Given the description of an element on the screen output the (x, y) to click on. 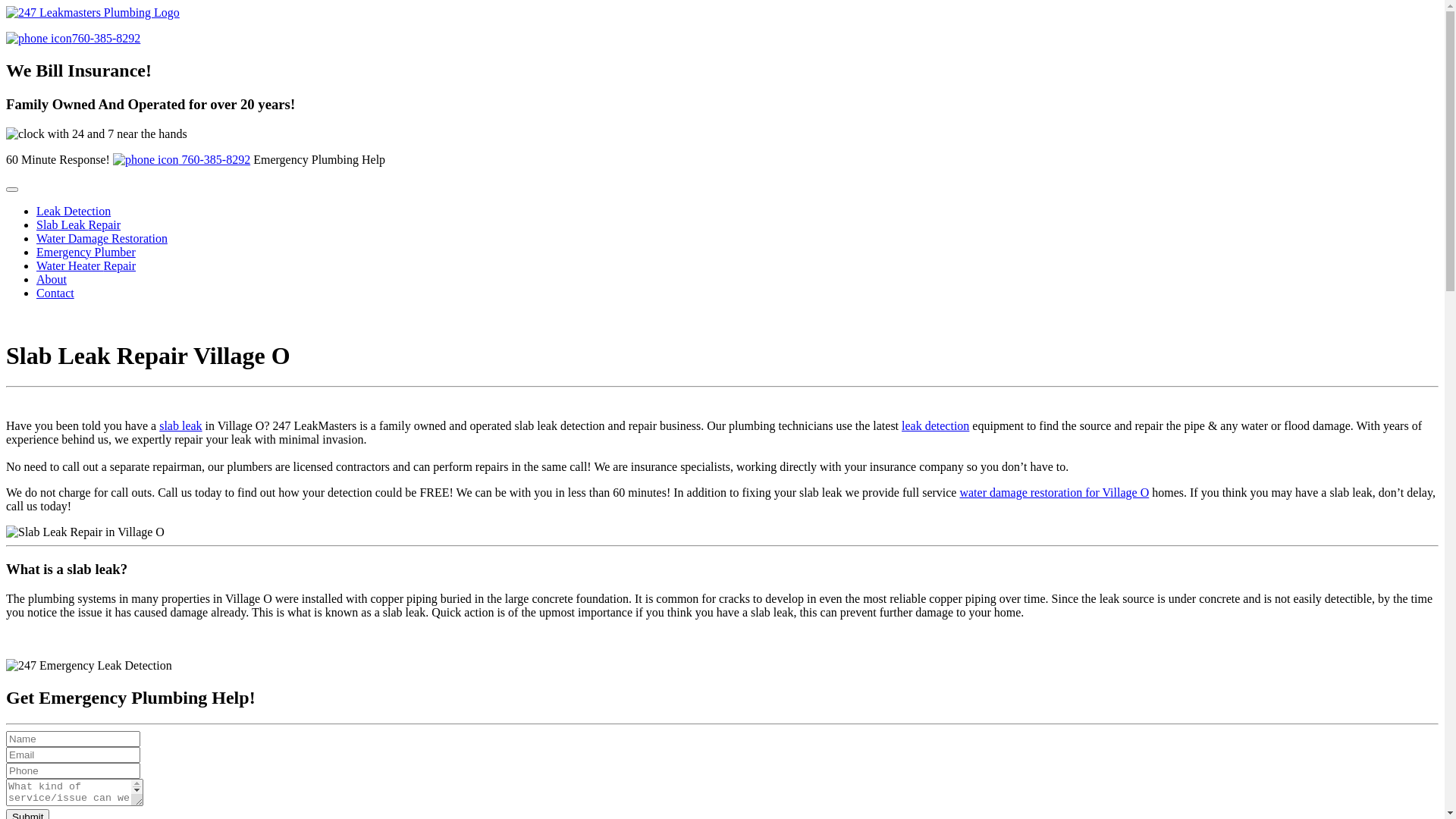
Water Heater Repair Element type: text (85, 265)
slab leak Element type: text (180, 425)
About Element type: text (51, 279)
760-385-8292 Element type: text (73, 37)
Water Damage Restoration Element type: text (101, 238)
Slab Leak Repair Element type: text (78, 224)
leak detection Element type: text (935, 425)
Contact Element type: text (55, 292)
760-385-8292 Element type: text (181, 159)
Emergency Plumber Element type: text (85, 251)
Leak Detection Element type: text (73, 210)
water damage restoration for Village O Element type: text (1053, 492)
